Given the description of an element on the screen output the (x, y) to click on. 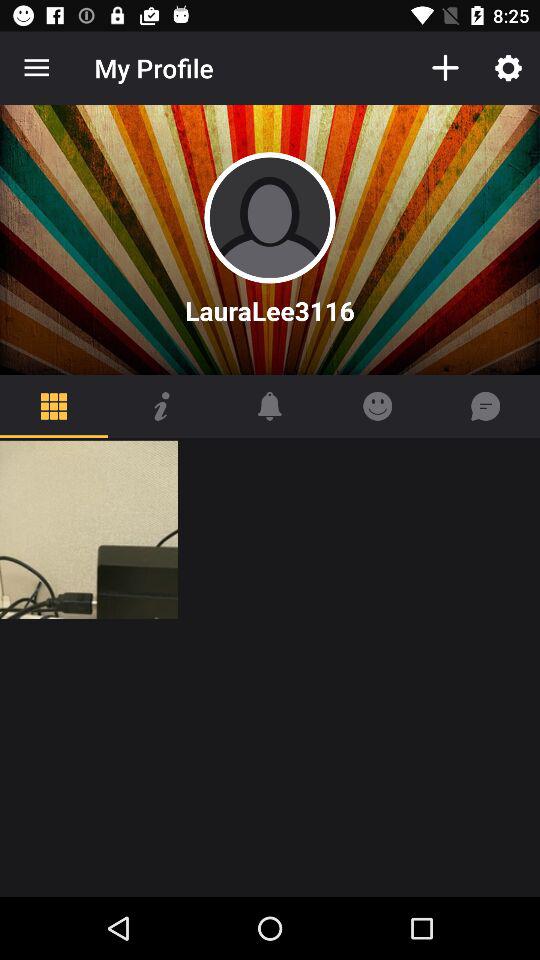
click the icon to the right of the my profile item (444, 68)
